Given the description of an element on the screen output the (x, y) to click on. 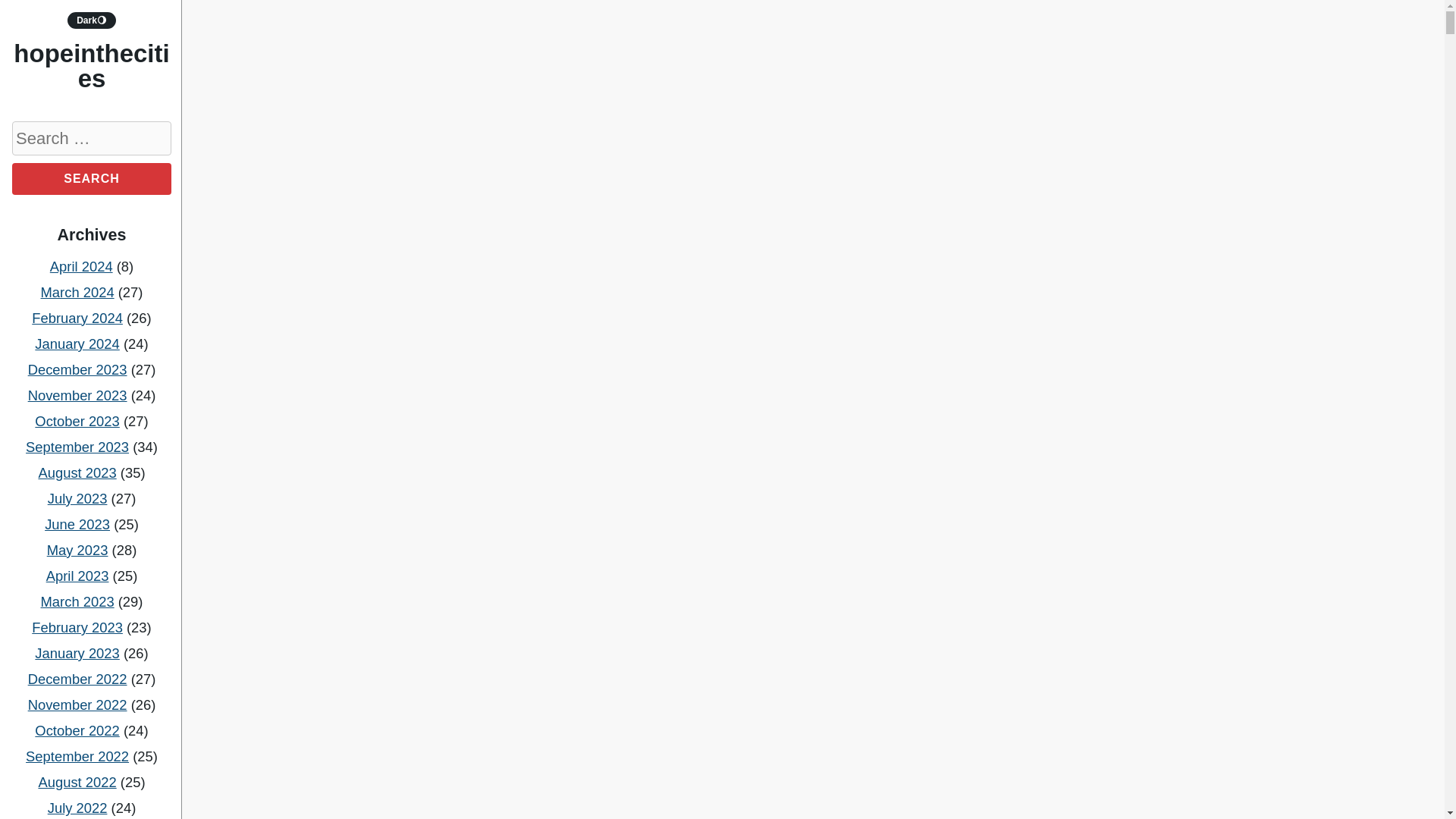
December 2022 (77, 678)
Search (91, 178)
August 2023 (76, 472)
March 2024 (77, 292)
January 2023 (76, 652)
What You Should Know About Pragmatic Play Slots (800, 189)
October 2022 (76, 730)
November 2022 (77, 704)
May 2023 (76, 549)
Search (91, 178)
